Given the description of an element on the screen output the (x, y) to click on. 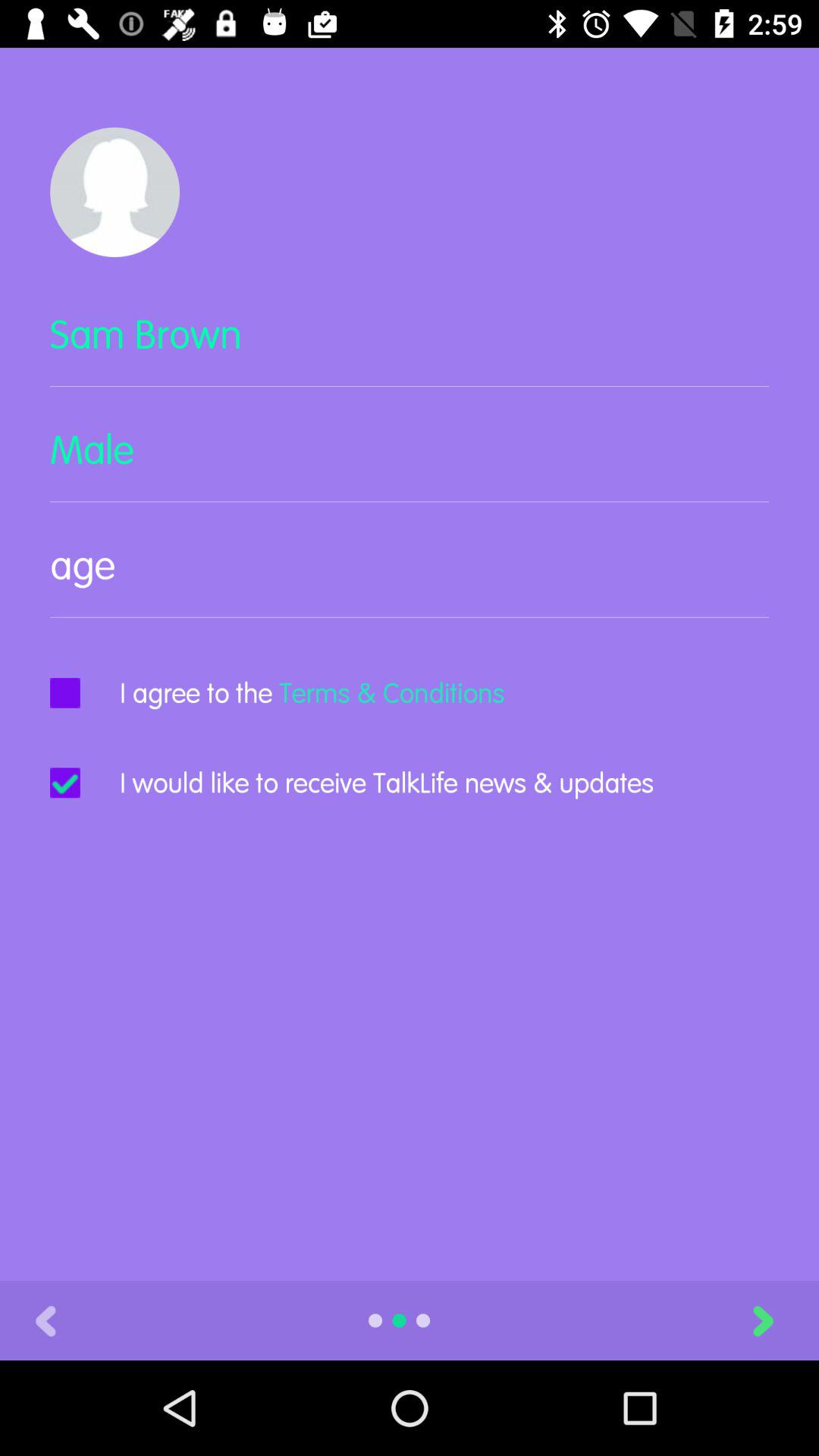
turn off the icon above the male icon (409, 346)
